Given the description of an element on the screen output the (x, y) to click on. 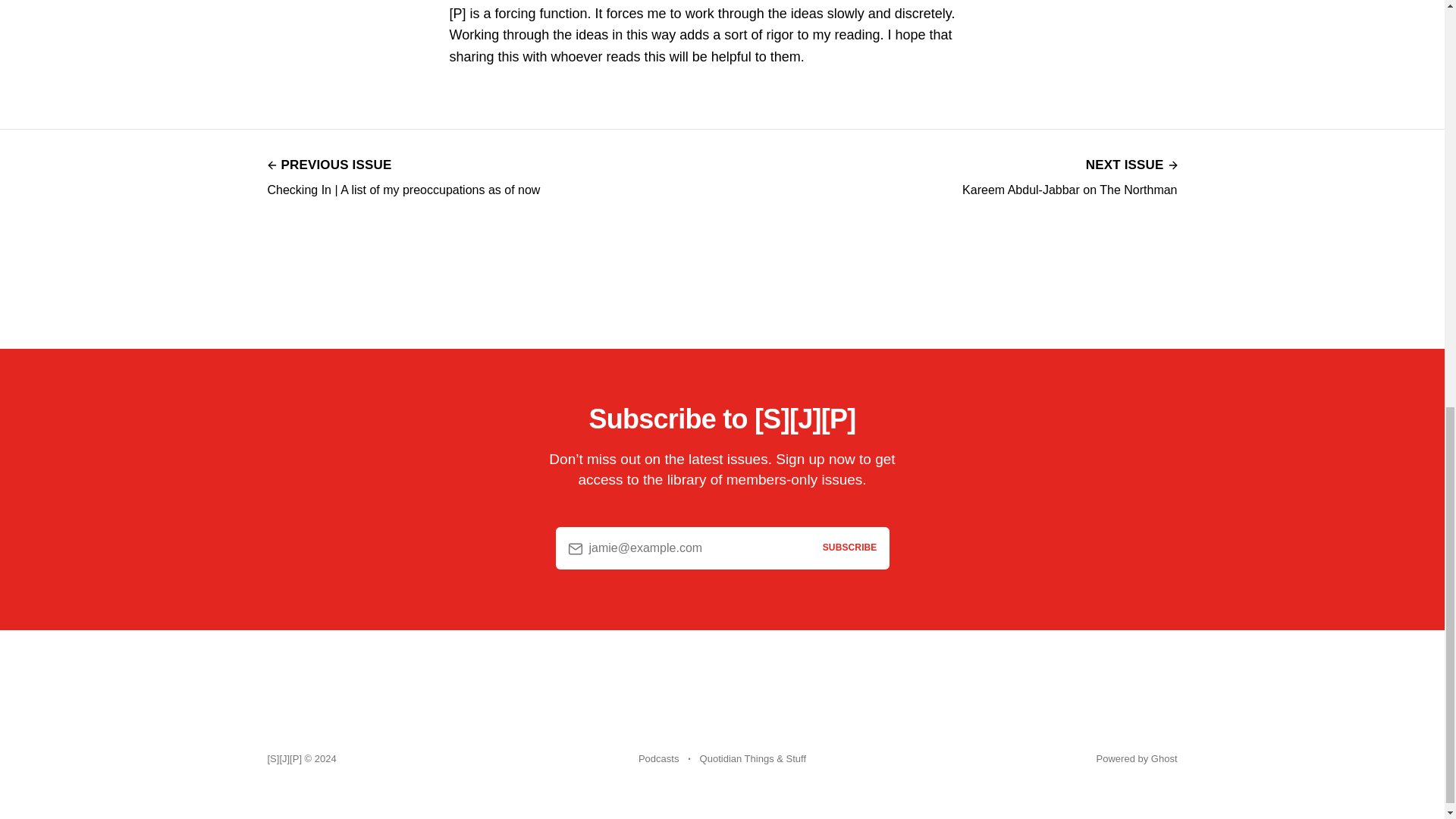
Podcasts (1069, 175)
Powered by Ghost (658, 758)
